Given the description of an element on the screen output the (x, y) to click on. 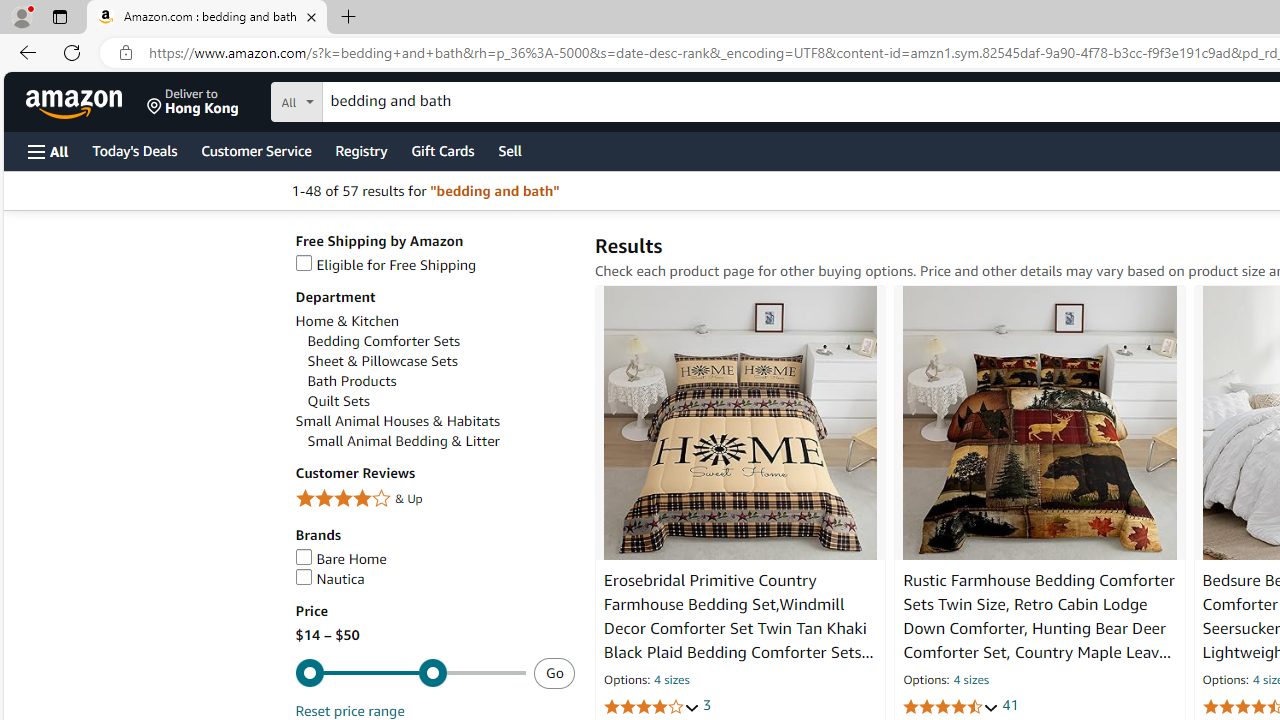
Bath Products (440, 381)
Go - Submit price range (554, 673)
Sell (509, 150)
Customer Service (256, 150)
Sheet & Pillowcase Sets (440, 361)
Registry (360, 150)
Search in (371, 99)
3.8 out of 5 stars (651, 706)
Eligible for Free Shipping (434, 265)
Quilt Sets (440, 401)
Skip to main content (86, 100)
Small Animal Houses & Habitats (434, 421)
